Given the description of an element on the screen output the (x, y) to click on. 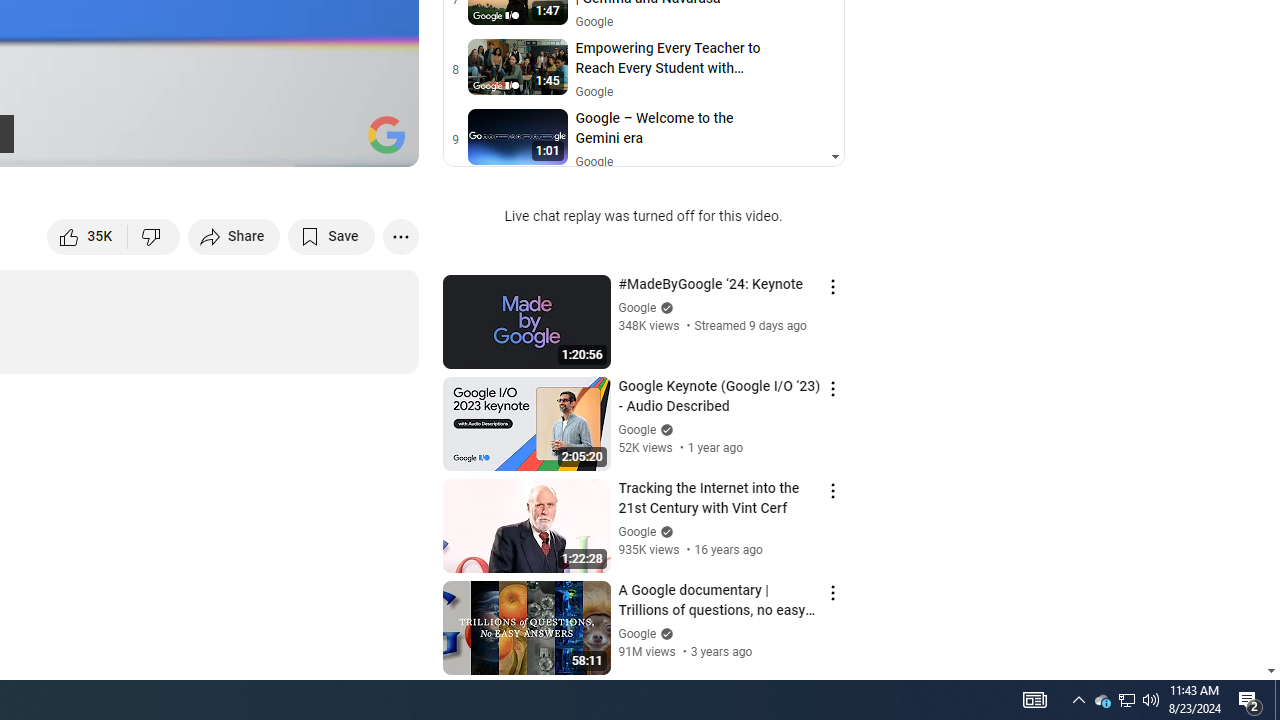
Channel watermark (386, 134)
Dislike this video (154, 236)
Verified (664, 632)
like this video along with 35,367 other people (88, 236)
Channel watermark (386, 134)
Save to playlist (331, 236)
Subtitles/closed captions unavailable (190, 142)
Full screen (f) (382, 142)
Action menu (832, 592)
Theater mode (t) (333, 142)
Miniplayer (i) (286, 142)
